Given the description of an element on the screen output the (x, y) to click on. 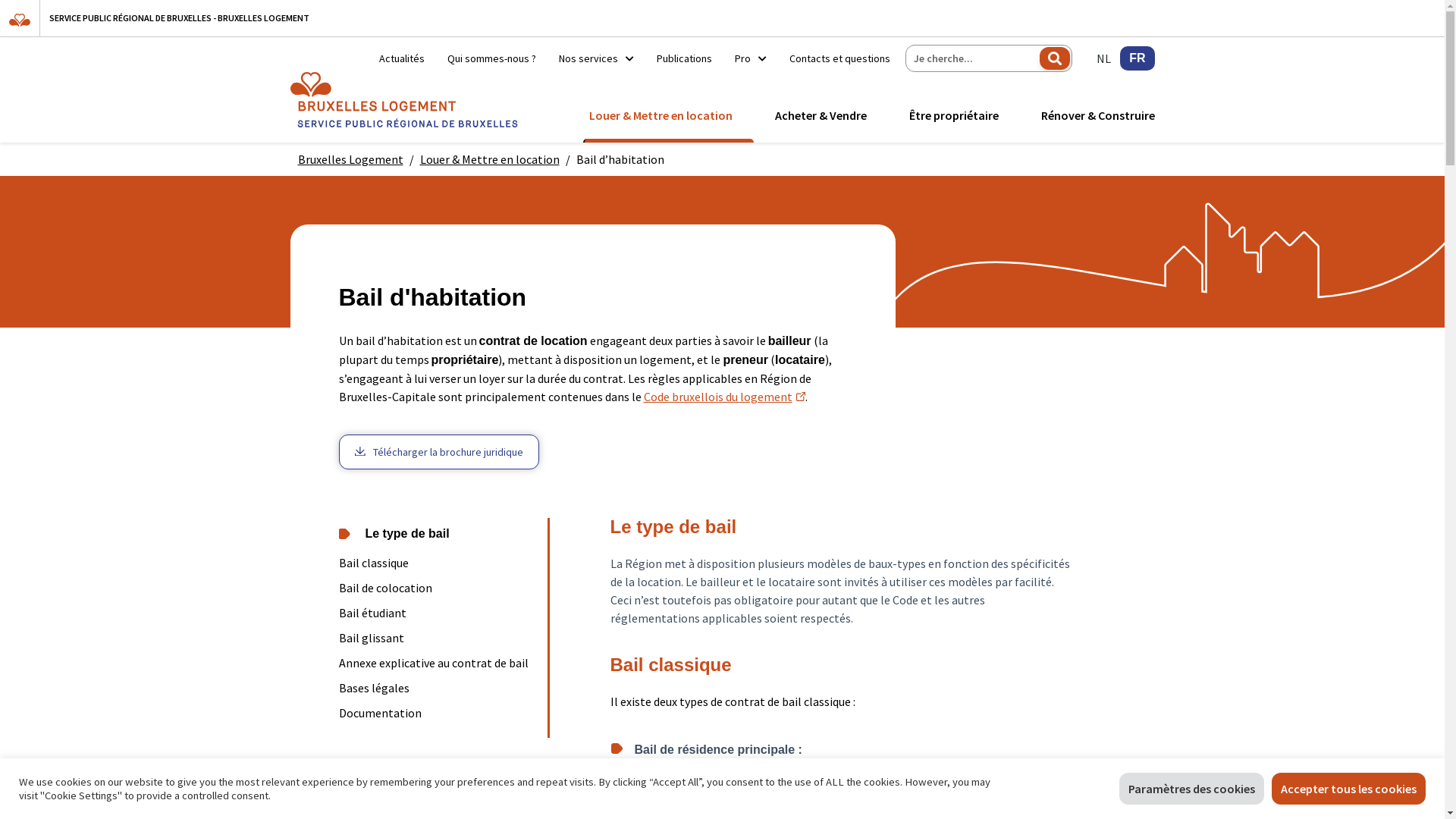
Publications Element type: text (684, 58)
Qui sommes-nous ? Element type: text (491, 58)
Louer & Mettre en location Element type: text (489, 159)
Bail classique Element type: text (436, 562)
NL Element type: text (1103, 58)
Pro Element type: text (750, 58)
Accepter tous les cookies Element type: text (1348, 788)
Documentation Element type: text (436, 712)
Bail de colocation Element type: text (436, 587)
Louer & Mettre en location Element type: text (659, 115)
Le type de bail Element type: text (436, 533)
Annexe explicative au contrat de bail Element type: text (436, 662)
Rechercher Element type: text (1054, 58)
Bruxelles Logement Element type: text (349, 159)
FR Element type: text (1137, 58)
Acheter & Vendre Element type: text (820, 115)
Nos services Element type: text (596, 58)
Bail glissant Element type: text (436, 637)
Contacts et questions Element type: text (834, 58)
Code bruxellois du logement
(nieuw venster) Element type: text (723, 396)
